Given the description of an element on the screen output the (x, y) to click on. 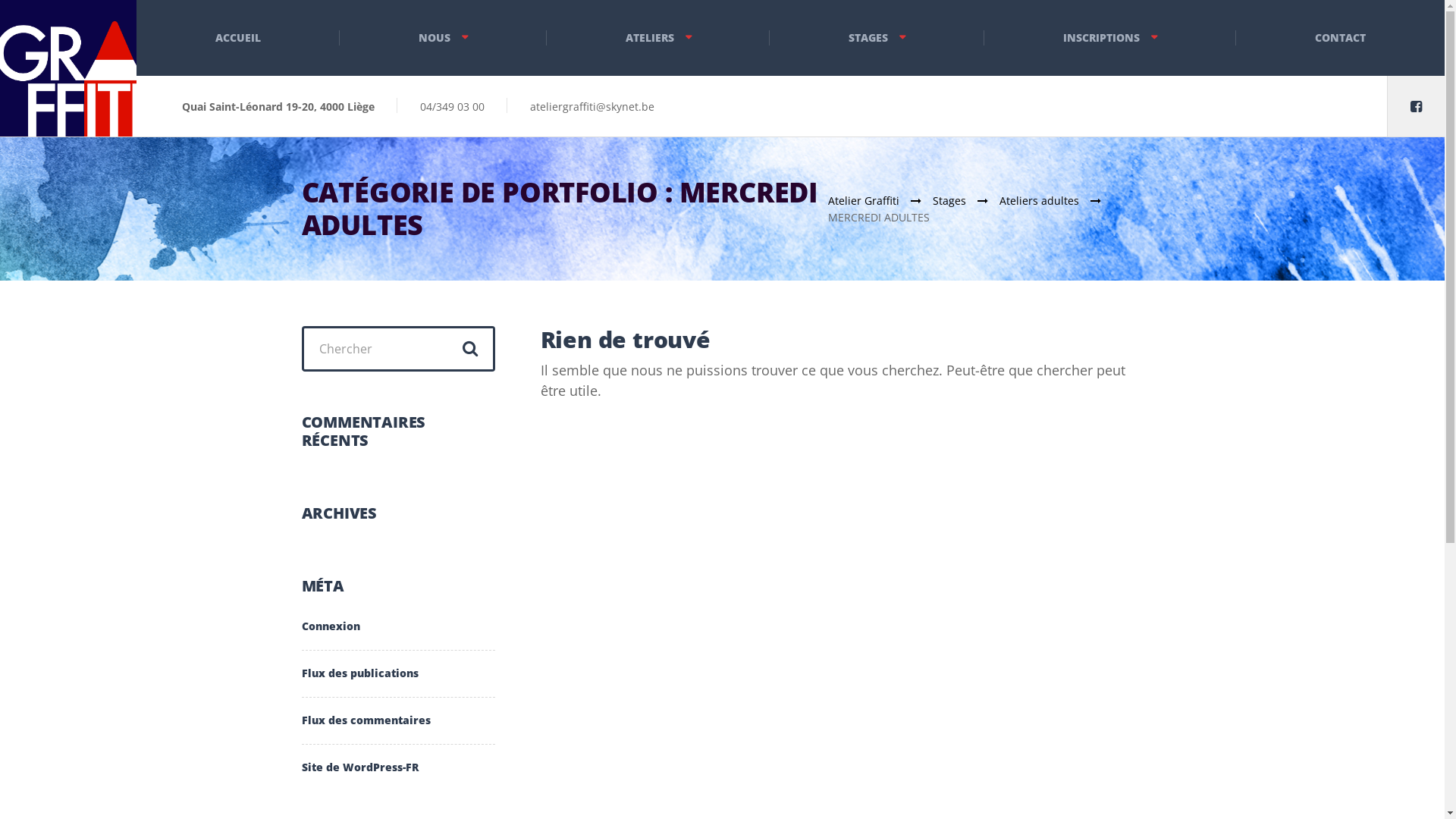
Stages Element type: text (965, 200)
ACCUEIL Element type: text (237, 37)
CONTACT Element type: text (1340, 37)
Flux des commentaires Element type: text (365, 719)
Atelier Graffiti Element type: text (880, 200)
Site de WordPress-FR Element type: text (359, 759)
ATELIERS Element type: text (658, 37)
STAGES Element type: text (876, 37)
NOUS Element type: text (442, 37)
Ateliers adultes Element type: text (1055, 200)
INSCRIPTIONS Element type: text (1110, 37)
Flux des publications Element type: text (359, 672)
Connexion Element type: text (330, 633)
